Given the description of an element on the screen output the (x, y) to click on. 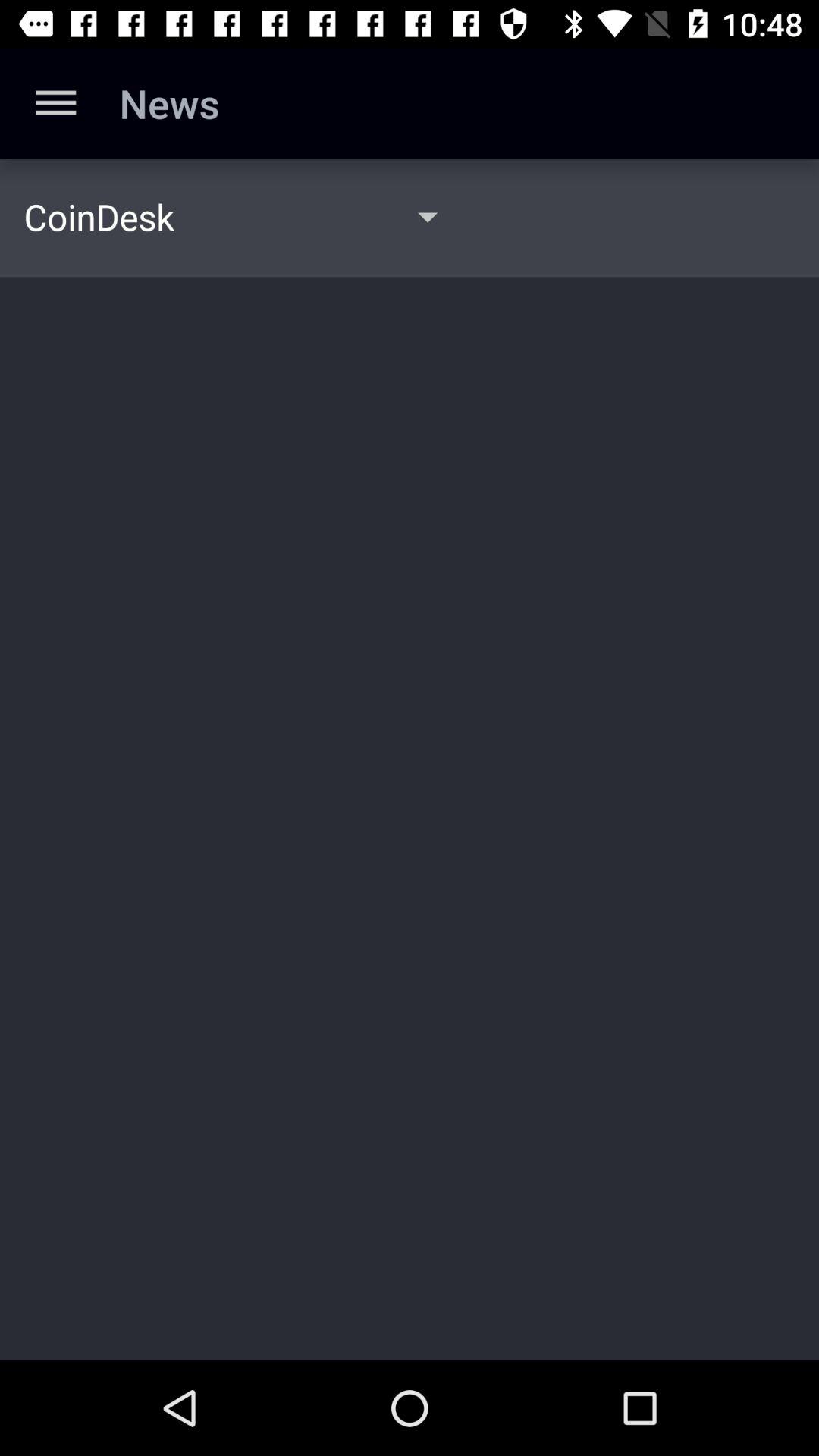
press coindesk (98, 216)
